Given the description of an element on the screen output the (x, y) to click on. 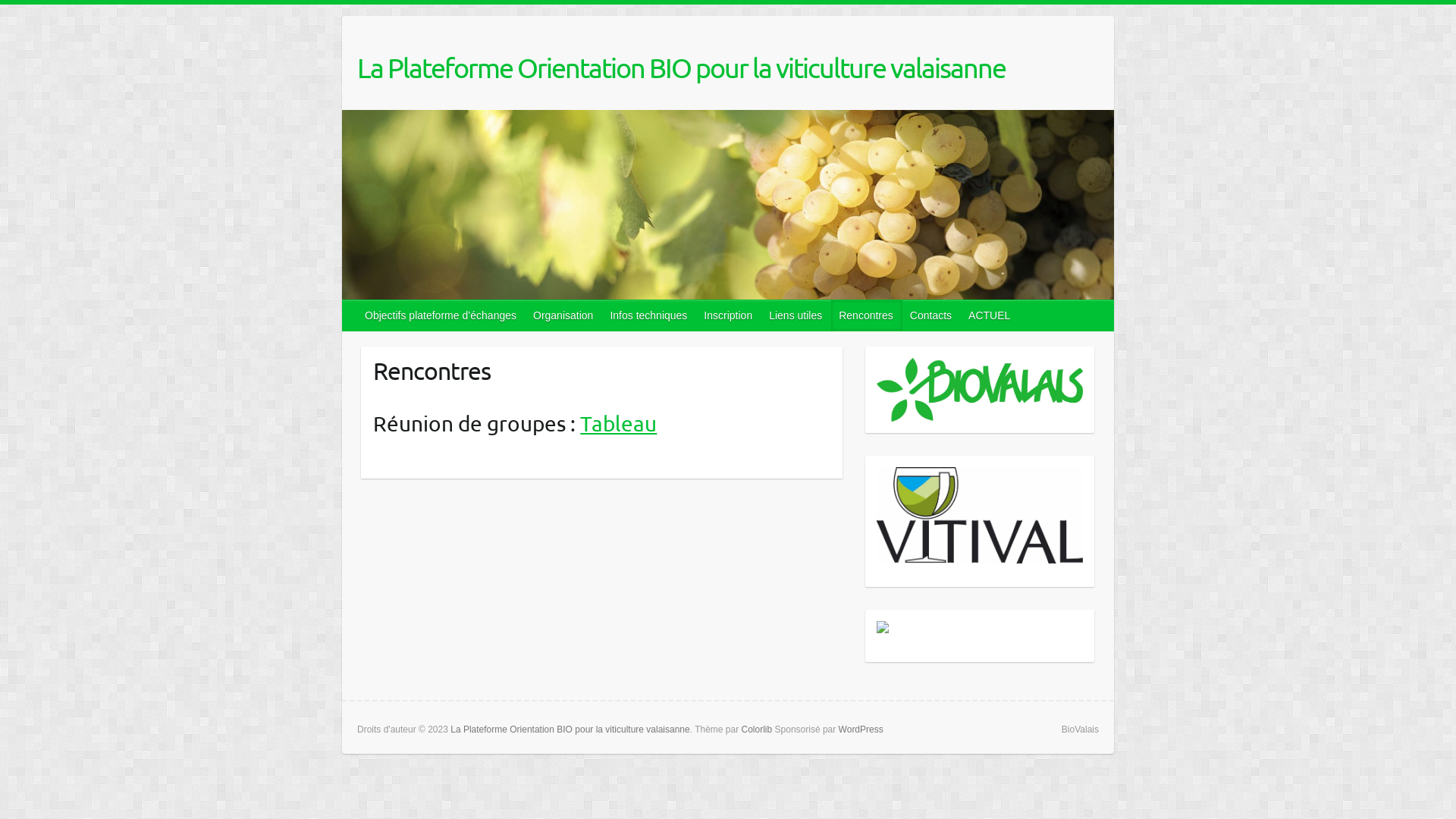
WordPress Element type: text (860, 729)
Tableau Element type: text (618, 423)
Rencontres Element type: text (866, 315)
Liens utiles Element type: text (796, 315)
La Plateforme Orientation BIO pour la viticulture valaisanne Element type: text (681, 67)
Inscription Element type: text (728, 315)
La Plateforme Orientation BIO pour la viticulture valaisanne Element type: text (570, 729)
Colorlib Element type: text (756, 729)
Infos techniques Element type: text (649, 315)
Contacts Element type: text (931, 315)
Organisation Element type: text (563, 315)
ACTUEL Element type: text (989, 315)
